Given the description of an element on the screen output the (x, y) to click on. 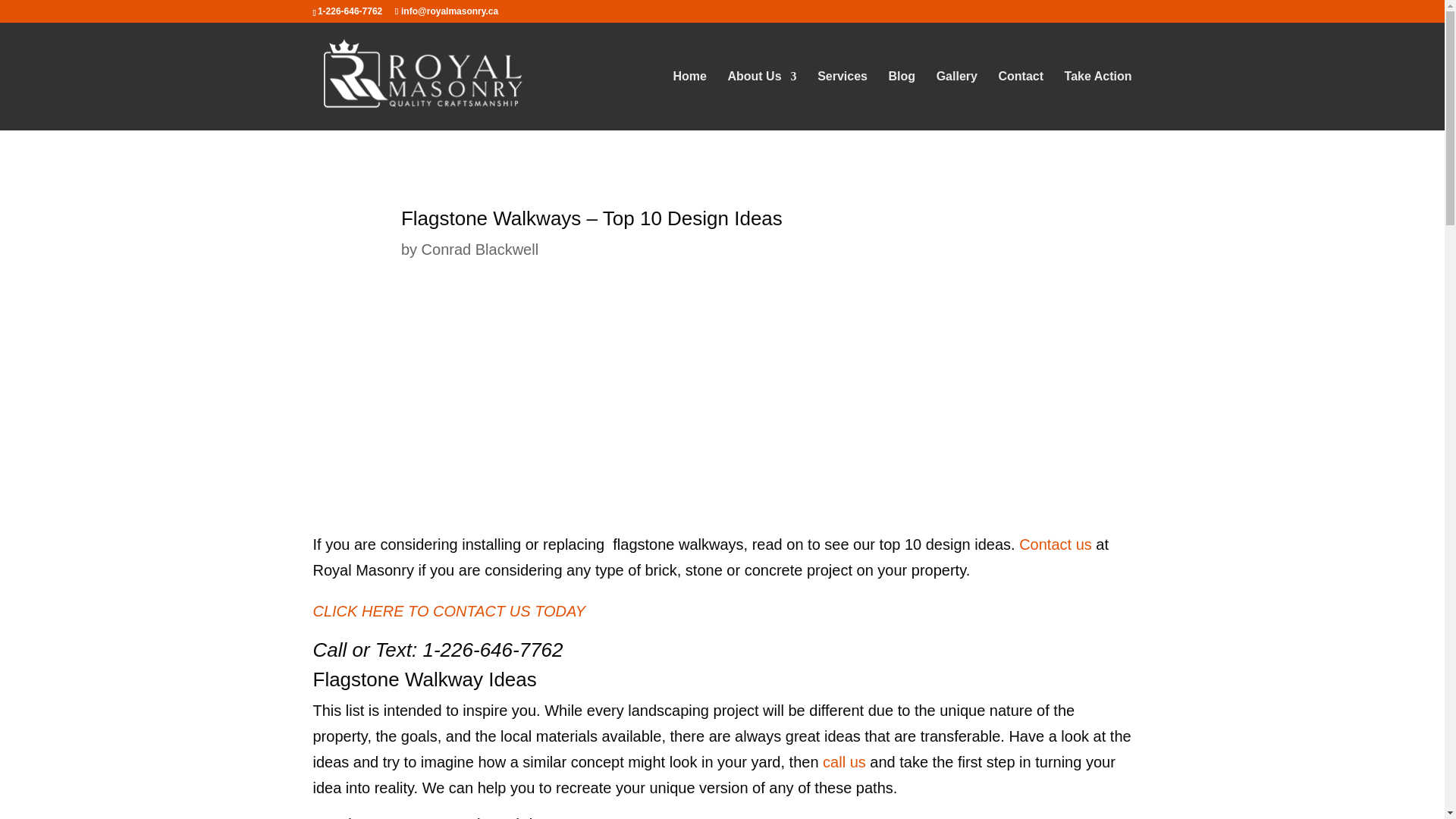
Gallery (956, 100)
call us (845, 761)
Conrad Blackwell (480, 248)
Call or Text: 1-226-646-7762 (437, 649)
Take Action (1098, 100)
About Us (761, 100)
Home (689, 100)
Blog (901, 100)
Posts by Conrad Blackwell (480, 248)
Contact us (1055, 544)
CLICK HERE TO CONTACT US TODAY (449, 610)
Services (841, 100)
Contact (1020, 100)
